Given the description of an element on the screen output the (x, y) to click on. 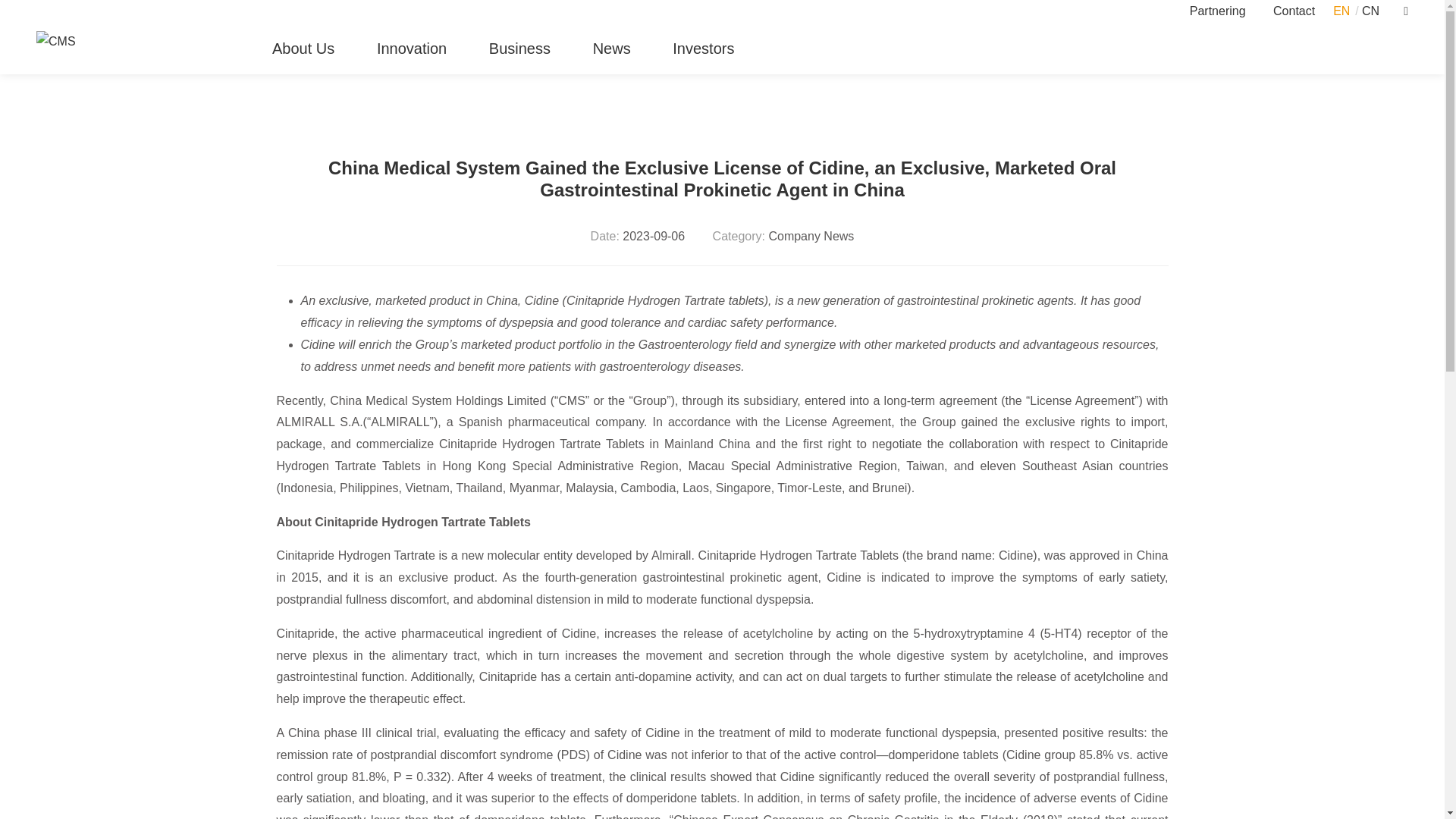
EN (1341, 10)
Innovation (411, 48)
Partnering (1217, 10)
Investors (702, 48)
Contact (1293, 10)
About Us (303, 48)
CN (1369, 10)
Business (519, 48)
